Given the description of an element on the screen output the (x, y) to click on. 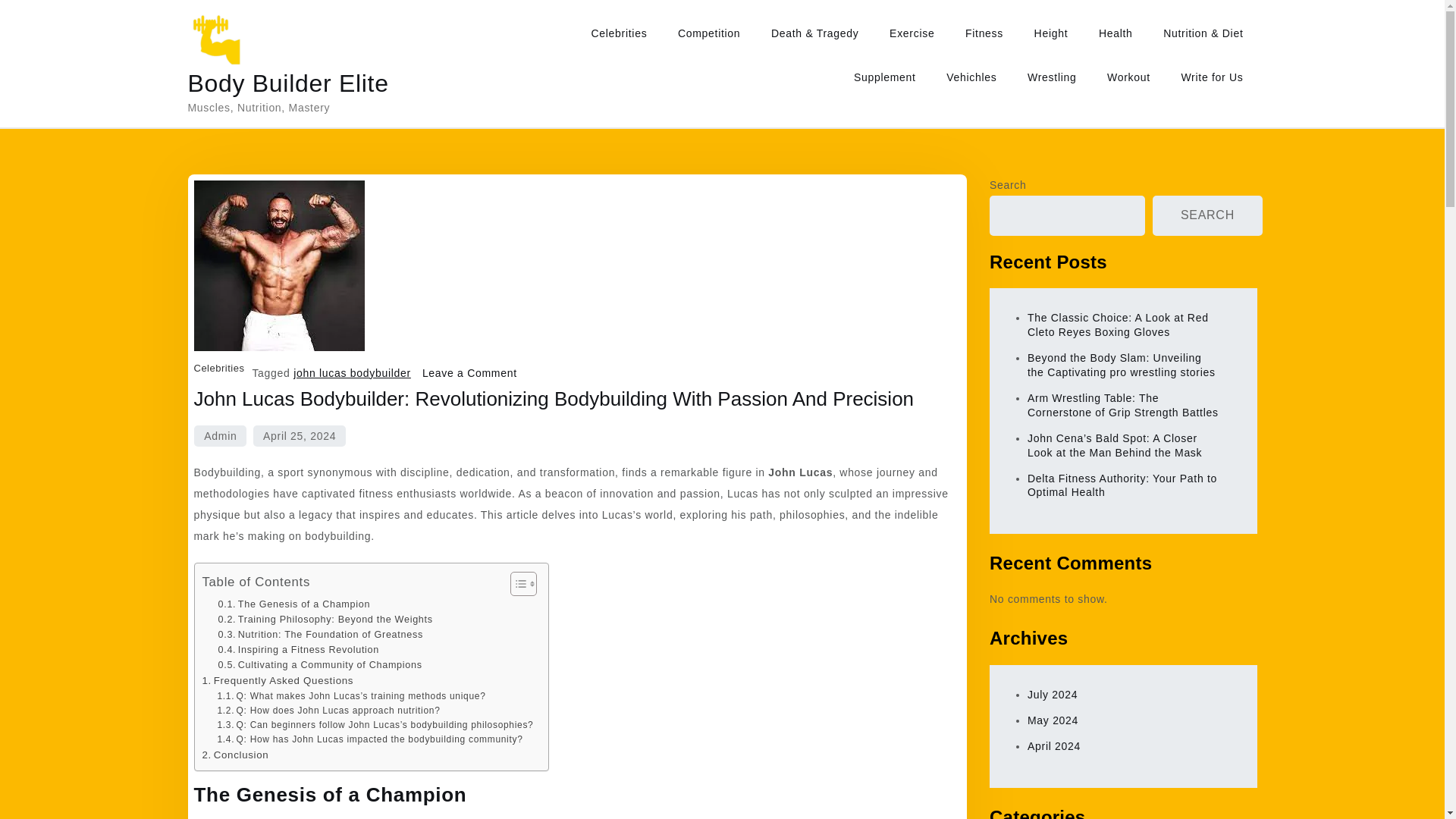
Height (1050, 33)
Training Philosophy: Beyond the Weights (325, 619)
Fitness (984, 33)
Celebrities (619, 33)
Training Philosophy: Beyond the Weights (325, 619)
Inspiring a Fitness Revolution (299, 649)
Exercise (911, 33)
Competition (708, 33)
Write for Us (1211, 77)
Wrestling (1051, 77)
Workout (1128, 77)
SEARCH (1207, 215)
Celebrities (218, 367)
Frequently Asked Questions (277, 680)
